Given the description of an element on the screen output the (x, y) to click on. 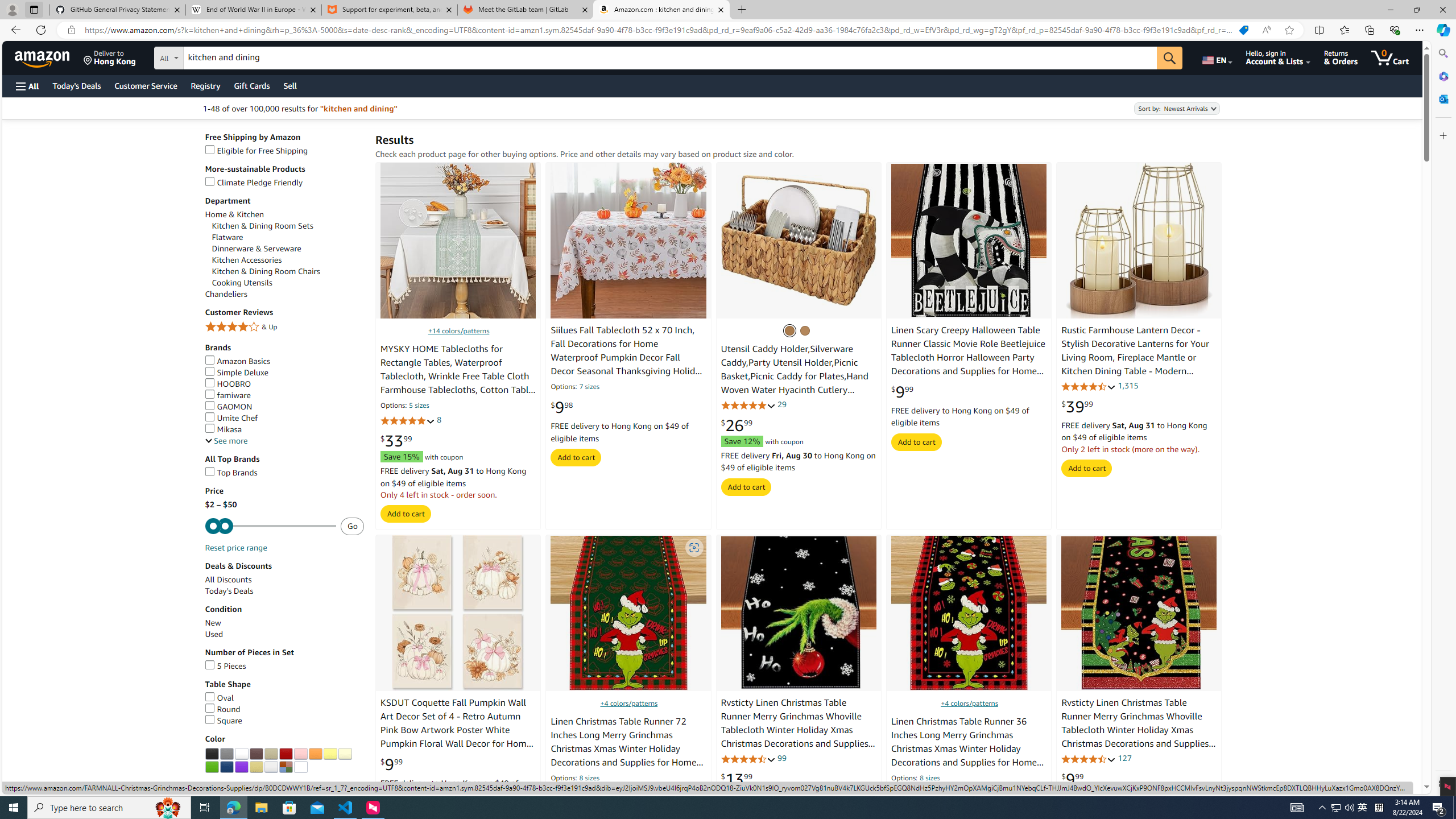
8 (439, 420)
AutomationID: p_n_feature_twenty_browse-bin/3254100011 (241, 753)
Kitchen Accessories (287, 260)
Umite Chef (231, 417)
Black (211, 753)
29 (782, 403)
Simple Deluxe (284, 372)
No small basket (789, 330)
Chandeliers (226, 294)
$33.99 (396, 440)
